Given the description of an element on the screen output the (x, y) to click on. 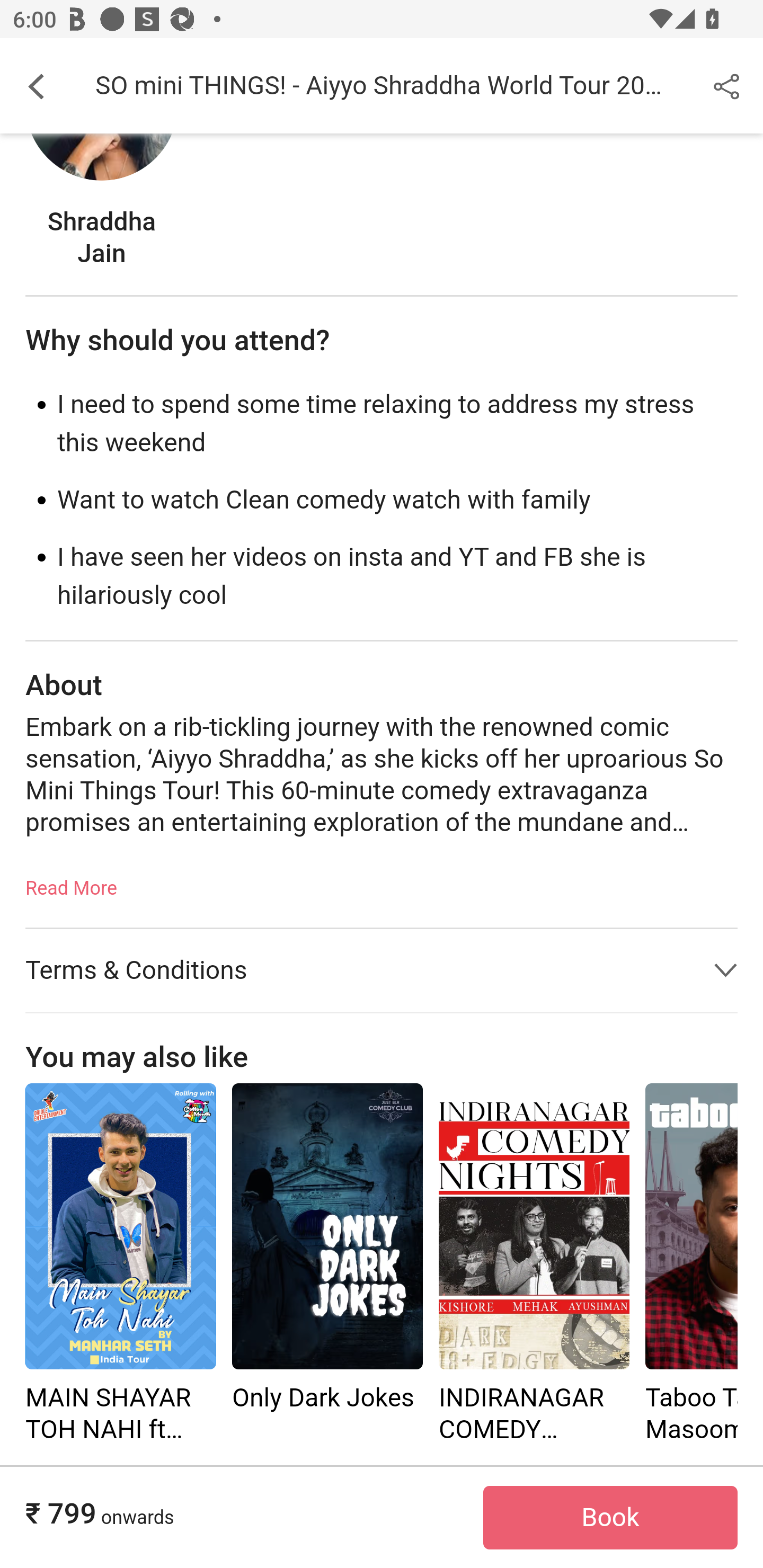
Read More (71, 883)
Terms & Conditions (381, 971)
MAIN SHAYAR TOH NAHI ft Manhar Seth (120, 1265)
MAIN SHAYAR TOH NAHI ft Manhar Seth (120, 1227)
Only Dark Jokes (326, 1265)
Only Dark Jokes (326, 1227)
INDIRANAGAR COMEDY NIGHTS (533, 1265)
INDIRANAGAR COMEDY NIGHTS (533, 1227)
Book (609, 1519)
